Given the description of an element on the screen output the (x, y) to click on. 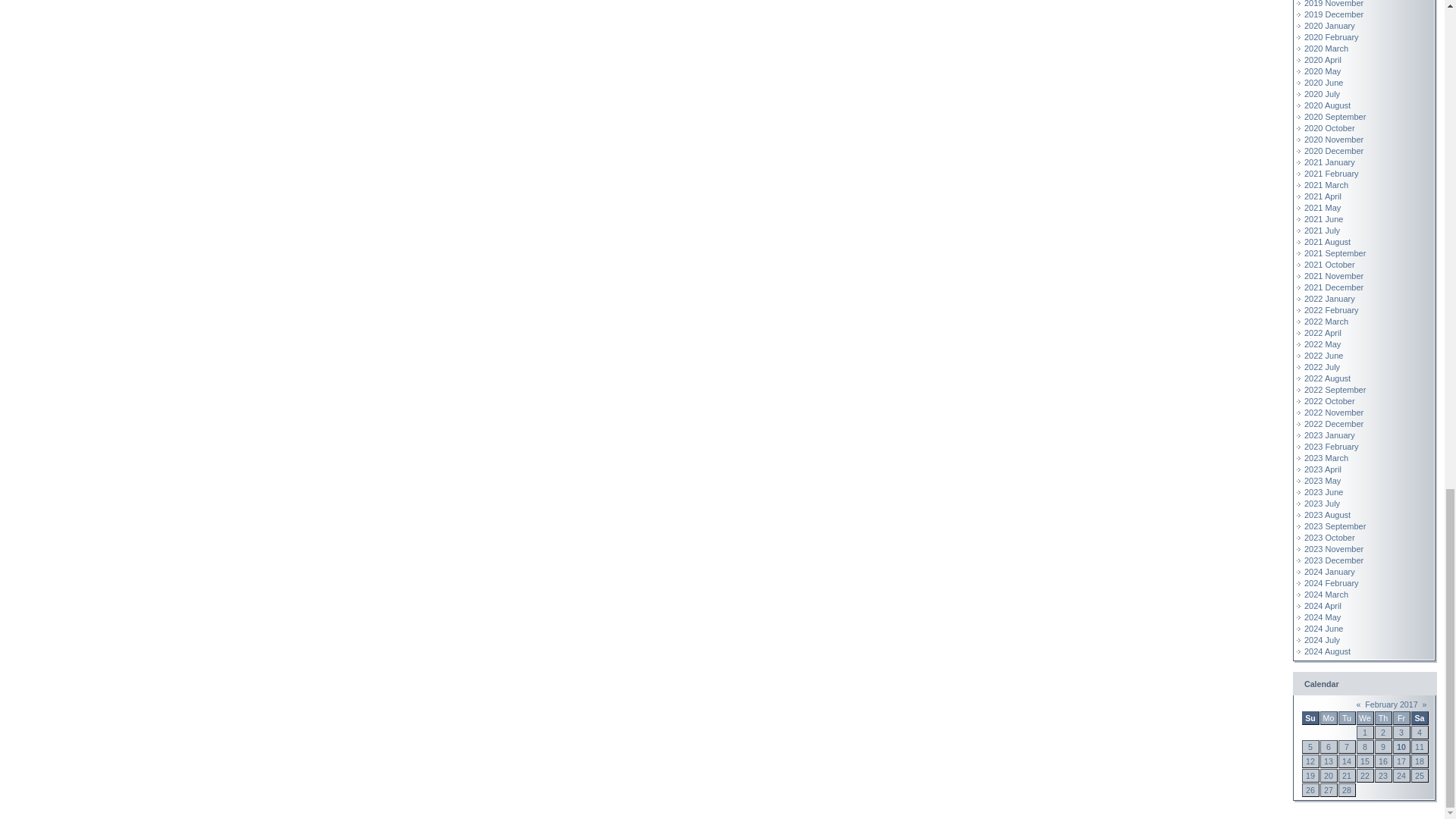
9 Messages (1401, 760)
7 Messages (1401, 746)
7 Messages (1382, 760)
3 Messages (1310, 760)
5 Messages (1346, 760)
4 Messages (1419, 746)
3 Messages (1364, 760)
3 Messages (1328, 760)
